Given the description of an element on the screen output the (x, y) to click on. 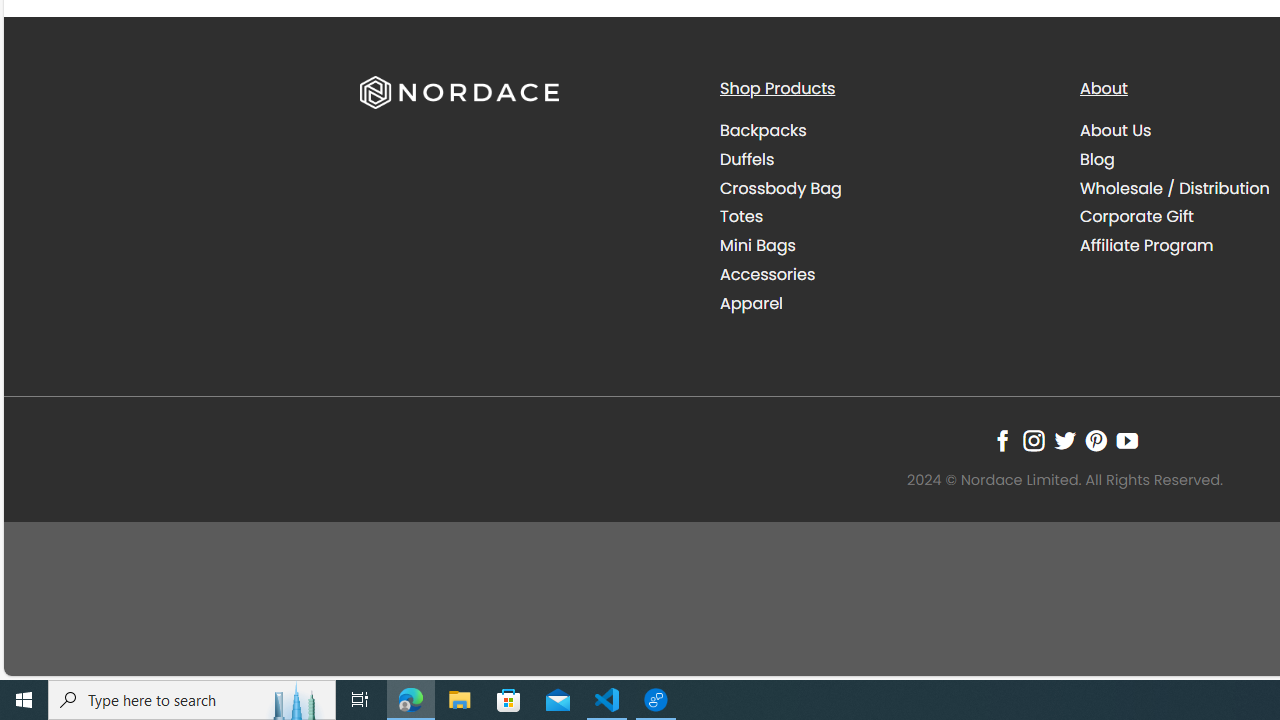
Duffels (746, 158)
Apparel (884, 303)
Mini Bags (757, 245)
Apparel (751, 302)
Totes (740, 216)
Follow on Pinterest (1096, 440)
Follow on YouTube (1126, 440)
Totes (884, 216)
Duffels (884, 159)
Backpacks (884, 131)
Crossbody Bag (884, 188)
Follow on Instagram (1033, 440)
Follow on Facebook (1002, 440)
Affiliate Program (1146, 245)
About Us (1116, 130)
